Given the description of an element on the screen output the (x, y) to click on. 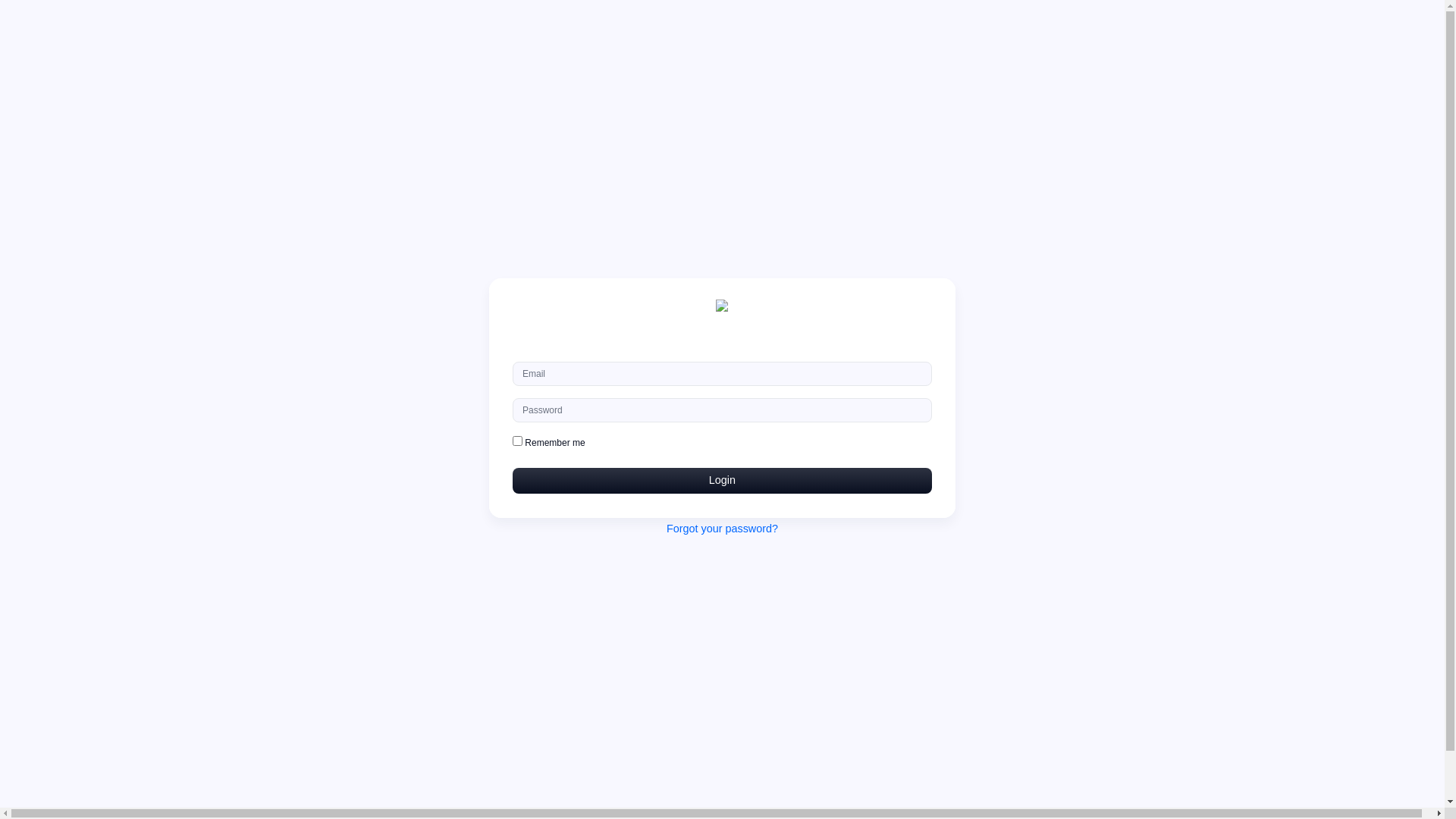
Login Element type: text (721, 480)
Forgot your password? Element type: text (722, 528)
